Given the description of an element on the screen output the (x, y) to click on. 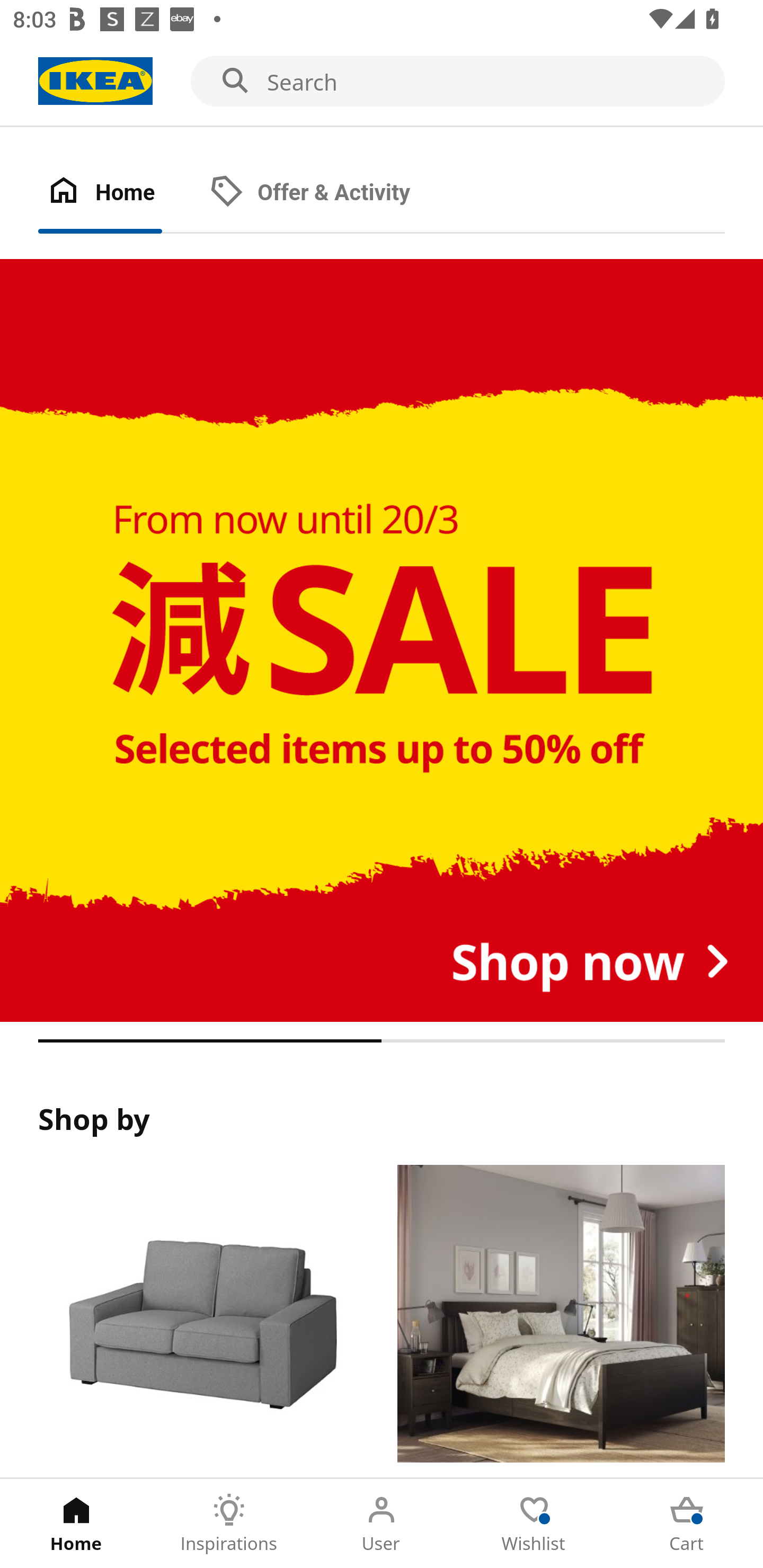
Search (381, 81)
Home
Tab 1 of 2 (118, 192)
Offer & Activity
Tab 2 of 2 (327, 192)
Products (201, 1321)
Rooms (560, 1321)
Home
Tab 1 of 5 (76, 1522)
Inspirations
Tab 2 of 5 (228, 1522)
User
Tab 3 of 5 (381, 1522)
Wishlist
Tab 4 of 5 (533, 1522)
Cart
Tab 5 of 5 (686, 1522)
